Given the description of an element on the screen output the (x, y) to click on. 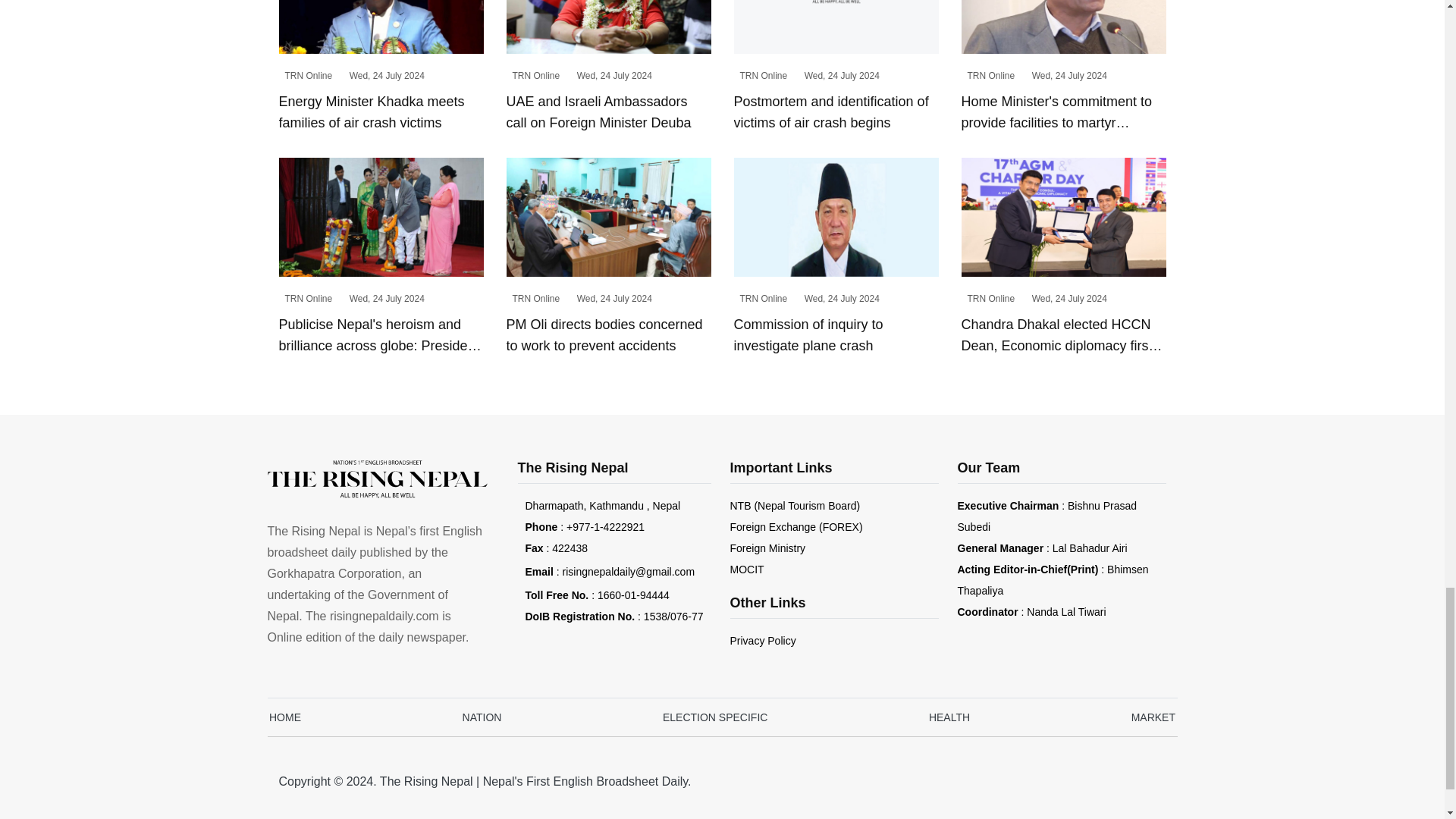
Suchana tahtaa sanchaar mantralya (745, 569)
